Given the description of an element on the screen output the (x, y) to click on. 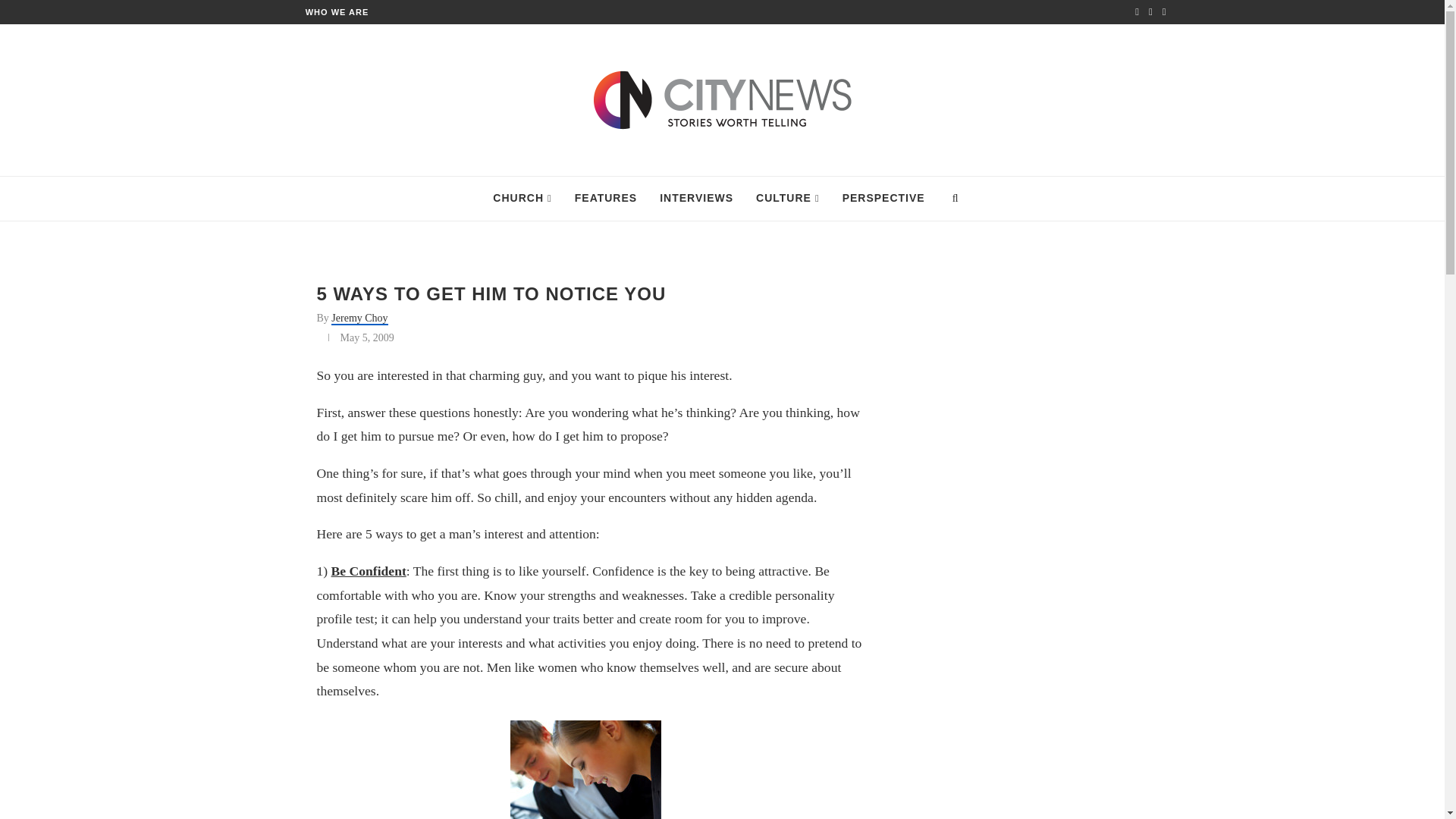
CULTURE (787, 198)
Posts by Jeremy Choy (359, 318)
PERSPECTIVE (883, 198)
WHO WE ARE (337, 11)
5 Ways To Get Him To Notice You (586, 769)
FEATURES (605, 198)
Jeremy Choy (359, 318)
CHURCH (521, 198)
INTERVIEWS (695, 198)
